Given the description of an element on the screen output the (x, y) to click on. 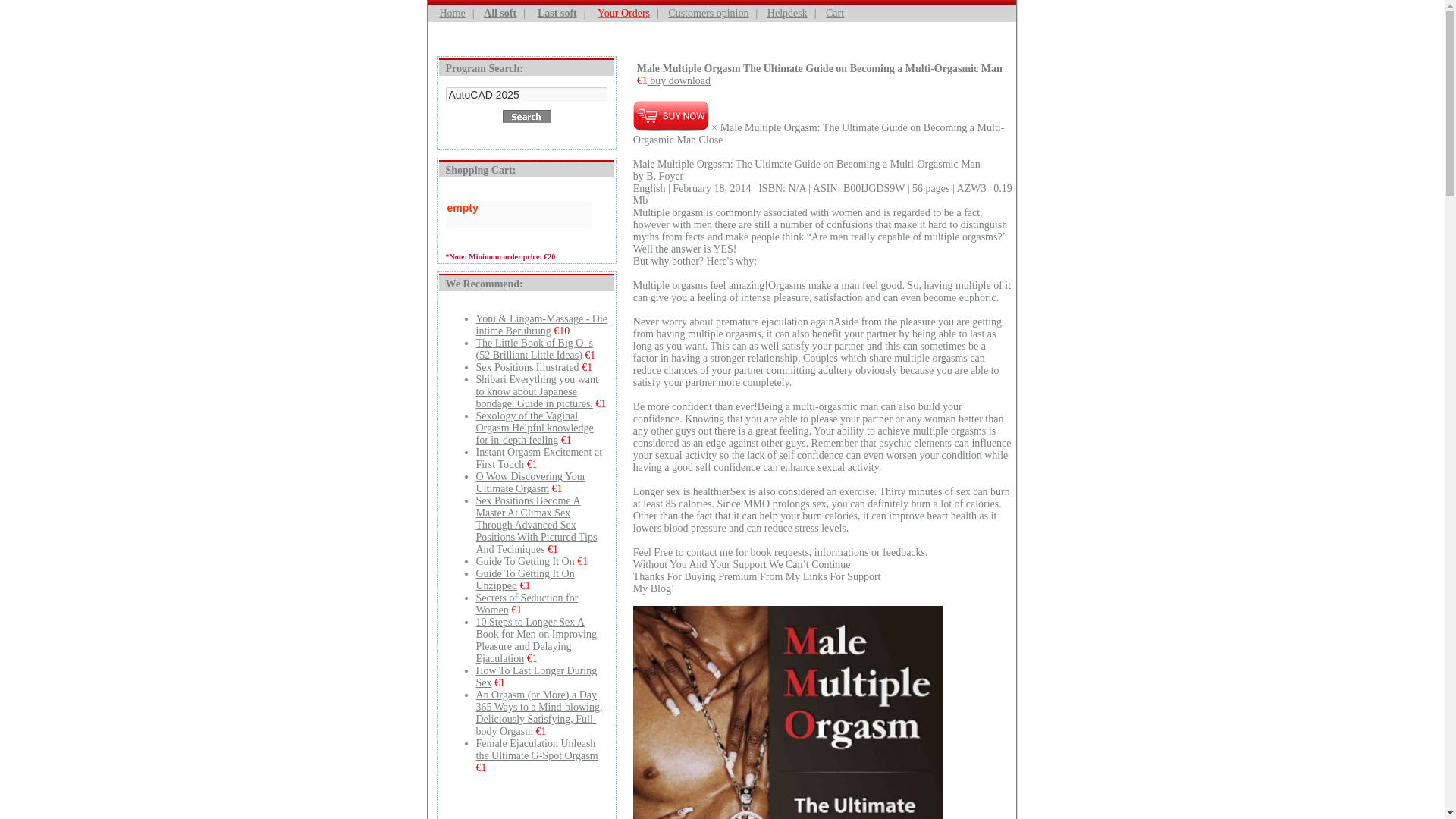
All soft (499, 12)
empty (518, 207)
Guide To Getting It On (525, 561)
Female Ejaculation Unleash the Ultimate G-Spot Orgasm (537, 749)
Cart (834, 12)
Last soft (556, 12)
Helpdesk (787, 12)
buy download (678, 80)
O Wow Discovering Your Ultimate Orgasm (531, 482)
Home (452, 12)
How To Last Longer During Sex (536, 676)
Your Orders (622, 12)
Instant Orgasm Excitement at First Touch (539, 458)
